Given the description of an element on the screen output the (x, y) to click on. 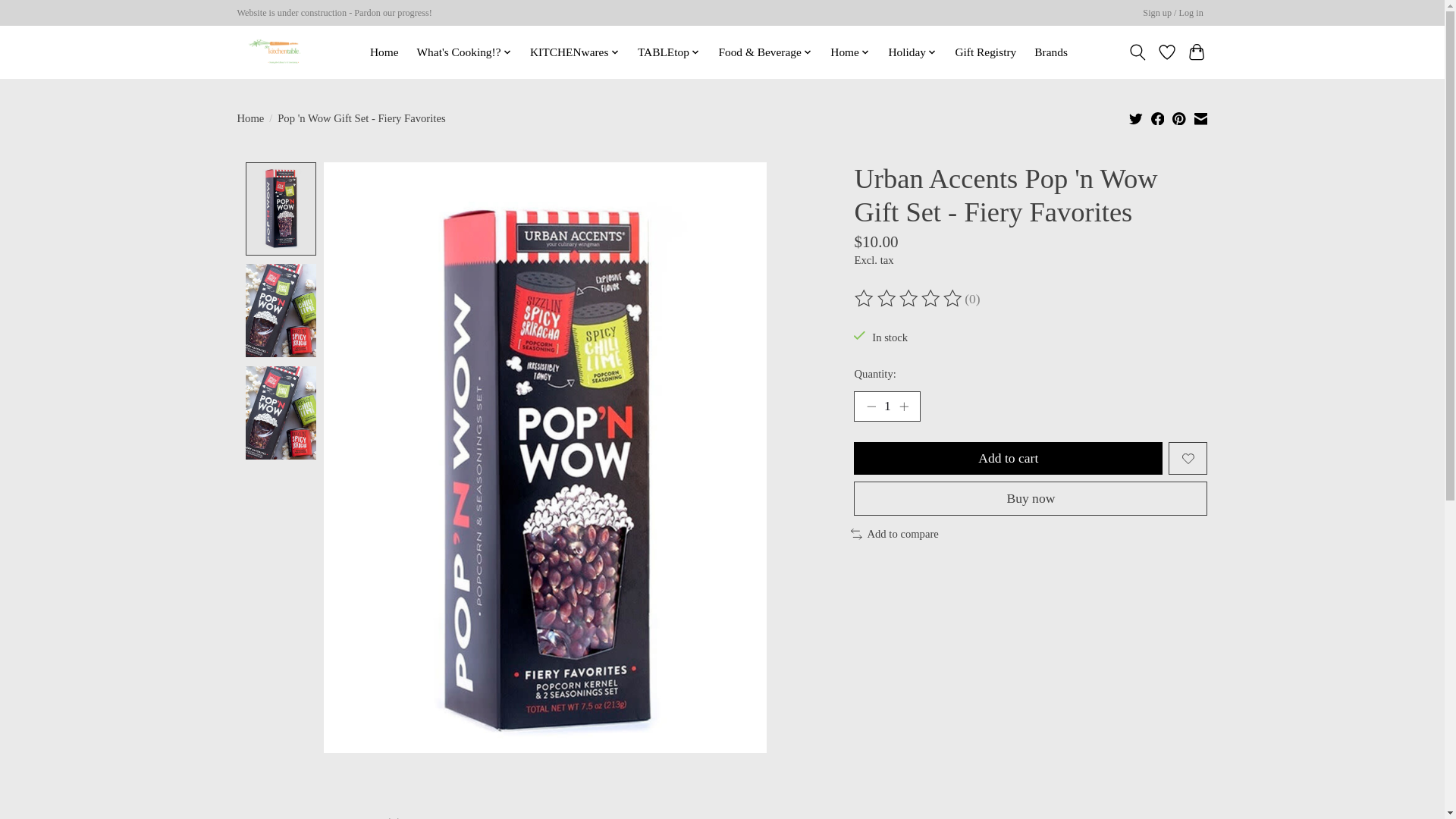
Share on Twitter (1135, 118)
What's Cooking!? (463, 52)
1 (886, 406)
Share by Email (1200, 118)
KITCHENwares (574, 52)
Share on Facebook (1157, 118)
Home (384, 52)
The Kitchen Table (276, 51)
My account (1173, 13)
Share on Pinterest (1178, 118)
